Given the description of an element on the screen output the (x, y) to click on. 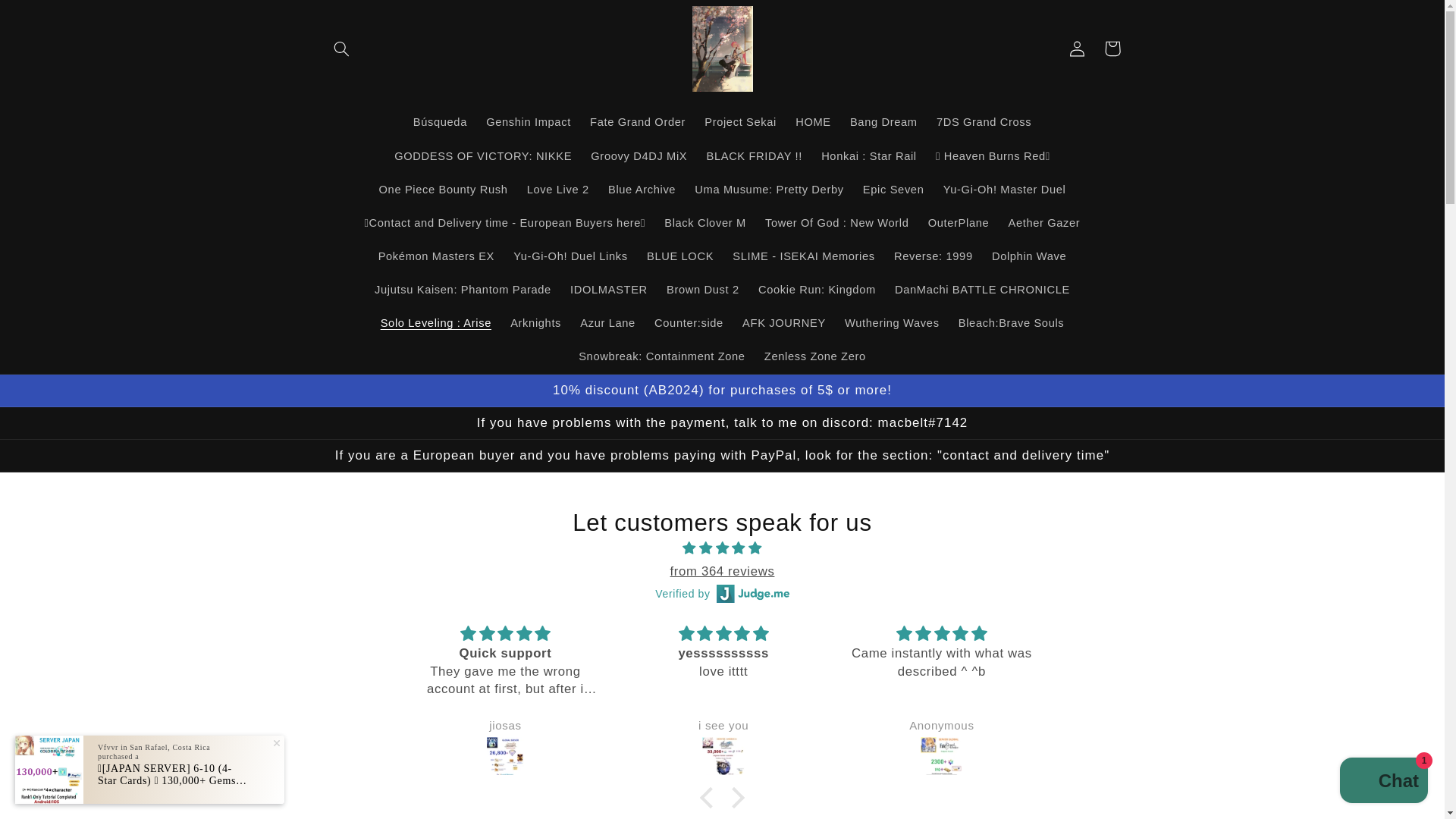
Shopify online store chat (1383, 781)
Skip to content (48, 18)
